Given the description of an element on the screen output the (x, y) to click on. 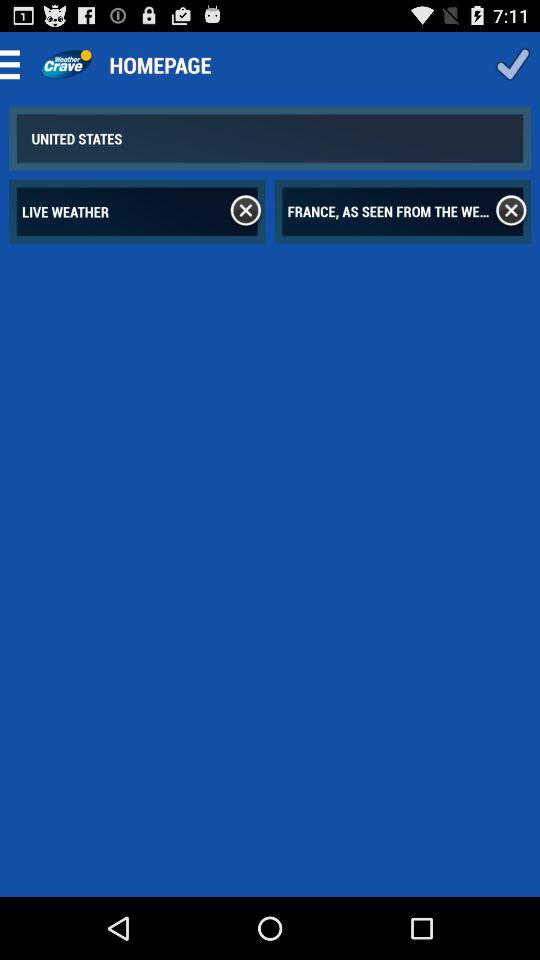
home page logo (65, 64)
